Given the description of an element on the screen output the (x, y) to click on. 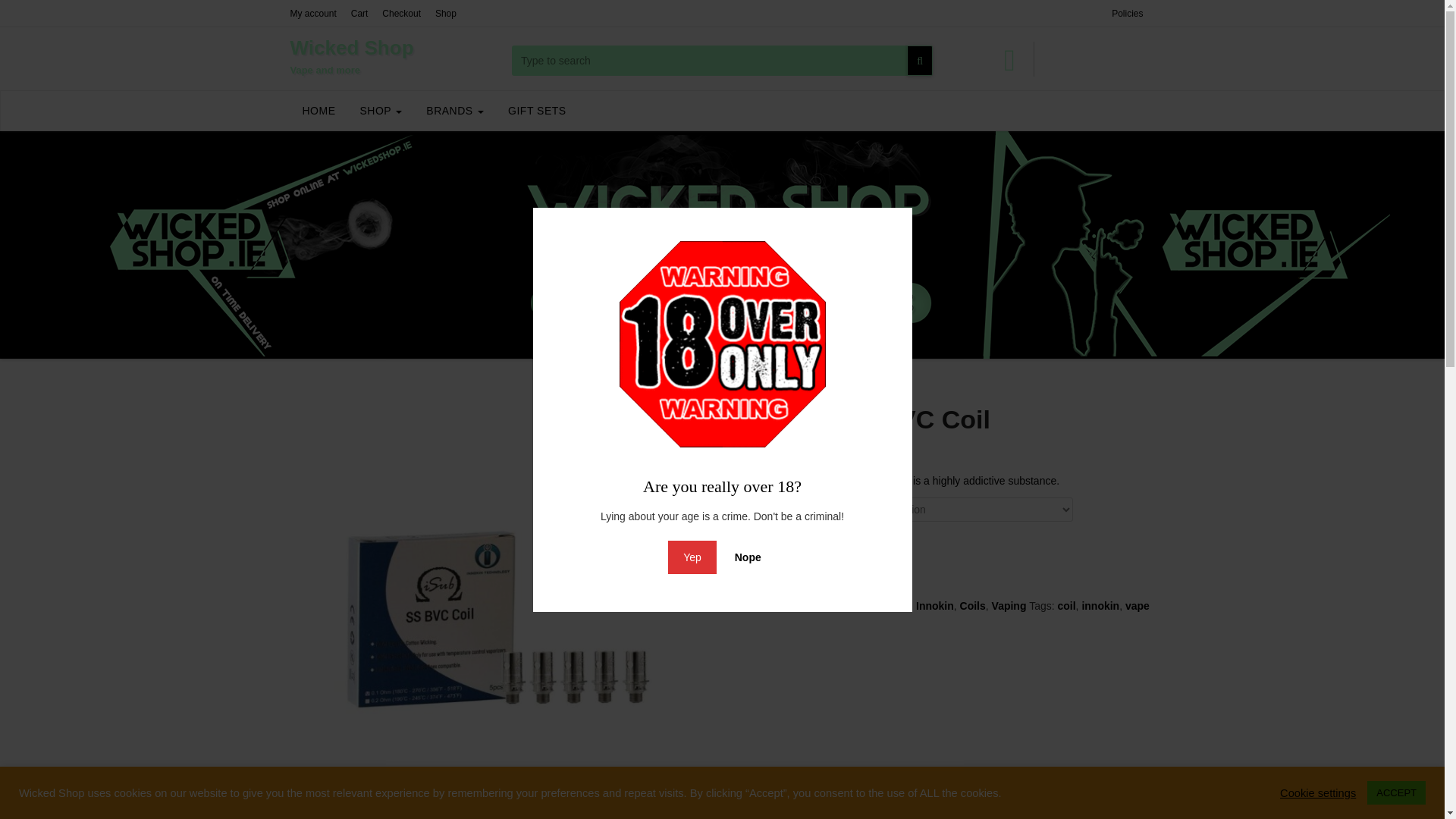
Shop (380, 110)
Shop (446, 13)
Policies (1127, 13)
My account (312, 13)
HOME (318, 110)
1 (1072, 58)
Home (758, 546)
SHOP (318, 110)
Yep (380, 110)
Cart (692, 556)
View your shopping cart (359, 13)
Checkout (1072, 58)
Nope (400, 13)
